Given the description of an element on the screen output the (x, y) to click on. 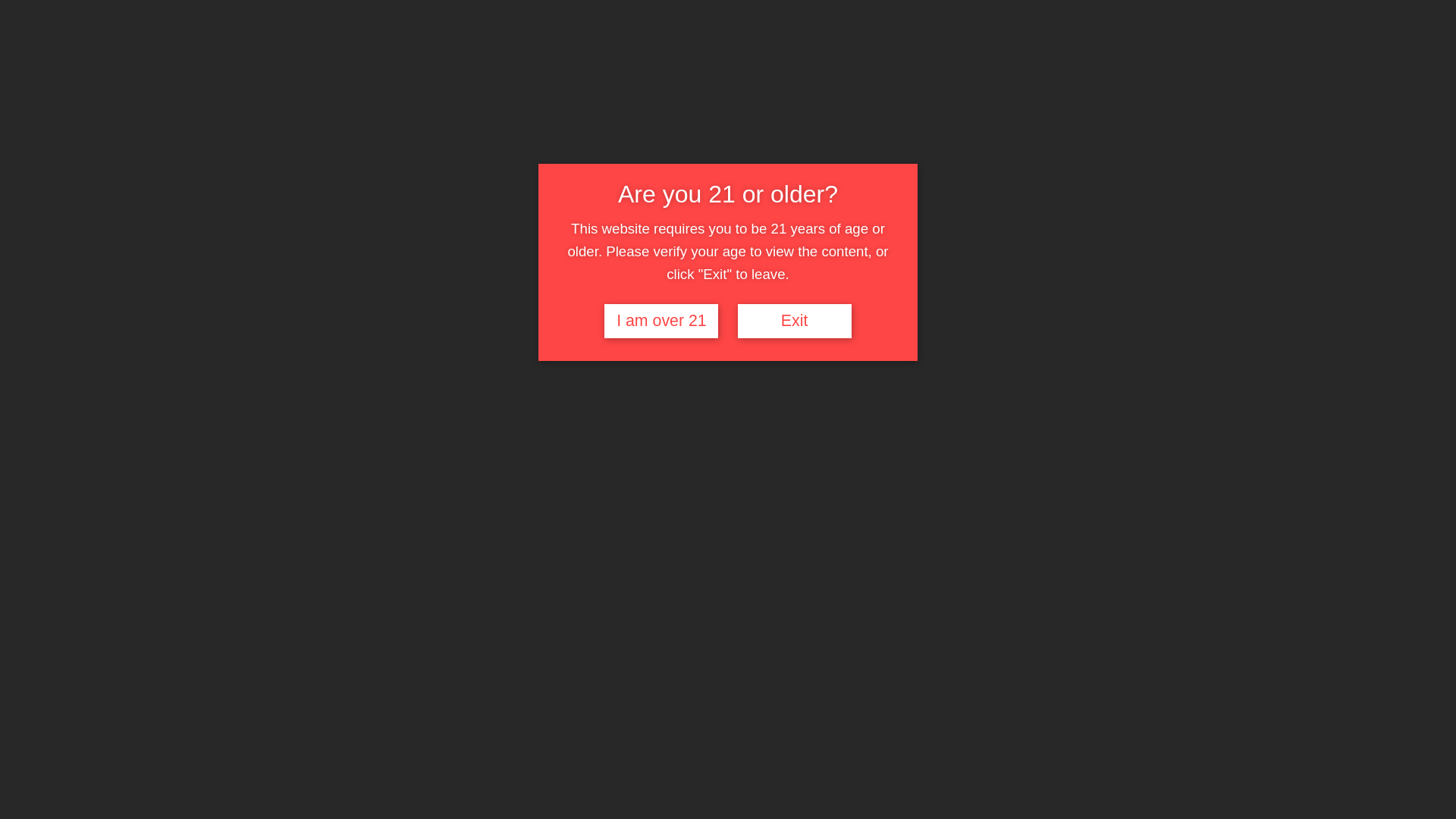
Fucked (939, 61)
Fucks Tag (801, 61)
Room (1058, 61)
Busty (1129, 61)
Cock (732, 61)
Pussy (897, 61)
Milf Tag (700, 61)
Fucked Tag (939, 61)
Fuck (213, 86)
Most Viewed (164, 60)
Teen (764, 61)
Gallery (644, 60)
HORNY (986, 61)
Most Viewed (164, 60)
Home (102, 60)
